Given the description of an element on the screen output the (x, y) to click on. 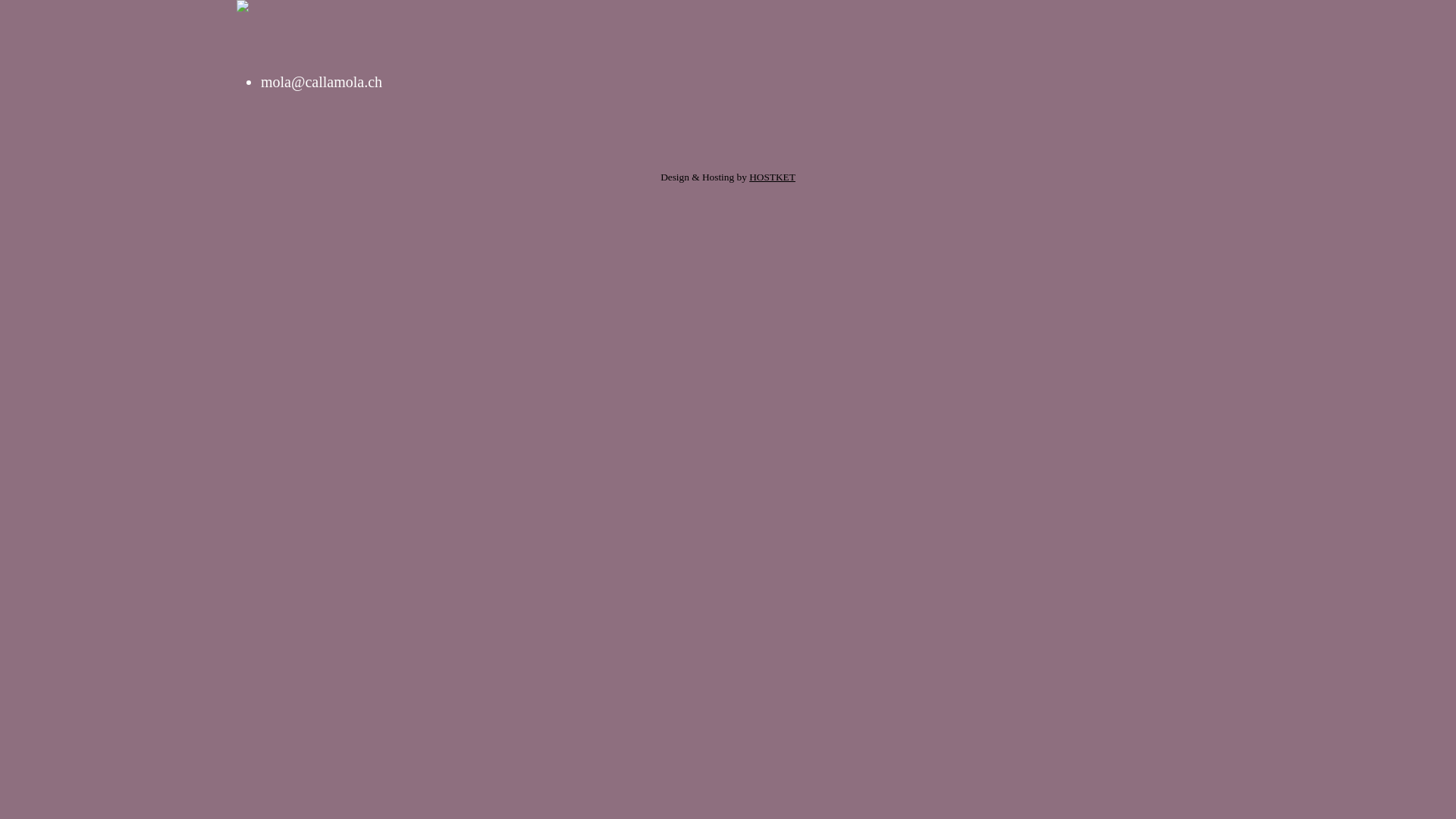
HOSTKET Element type: text (772, 176)
